Given the description of an element on the screen output the (x, y) to click on. 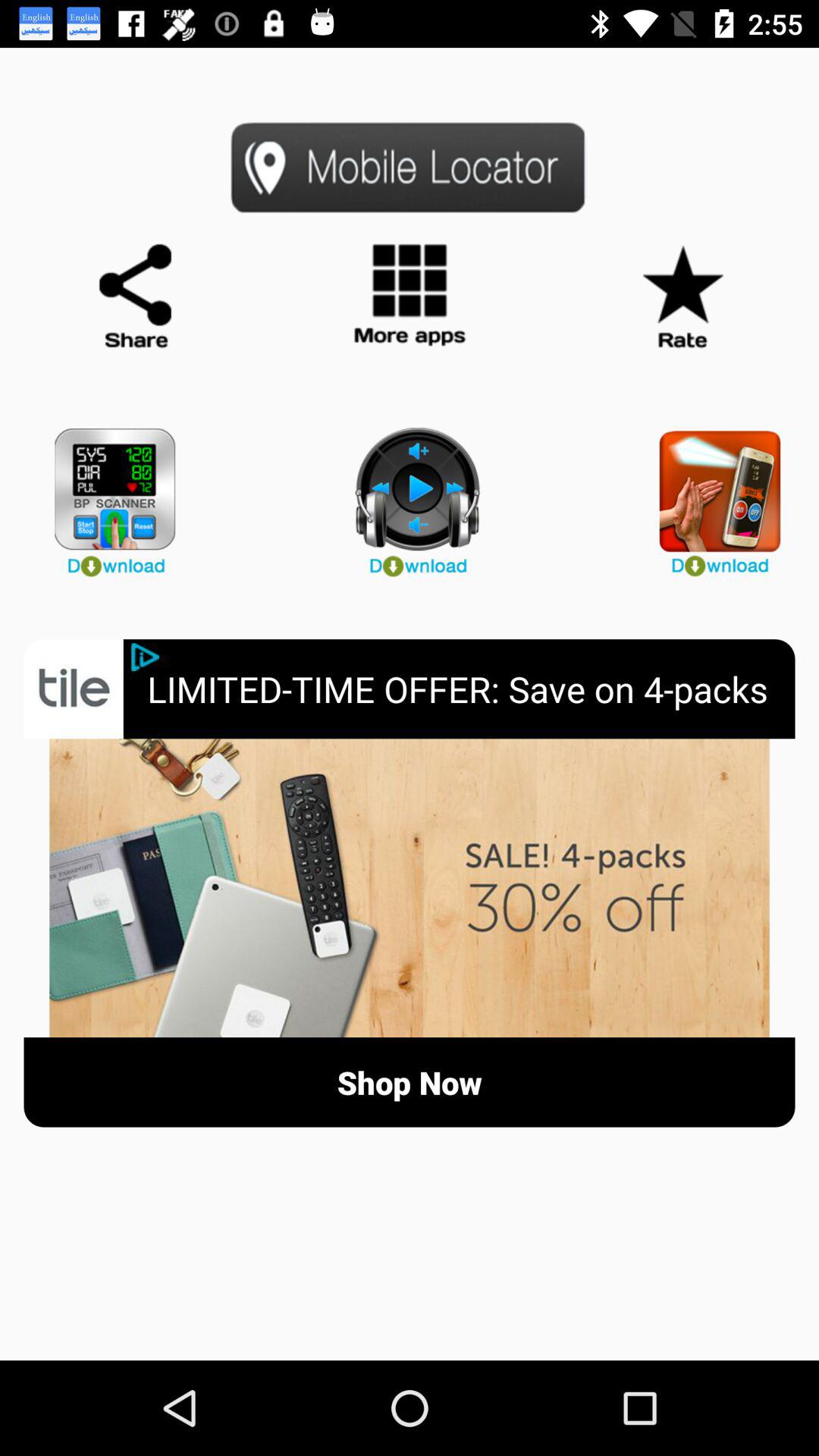
turn mobile location on (409, 167)
